Given the description of an element on the screen output the (x, y) to click on. 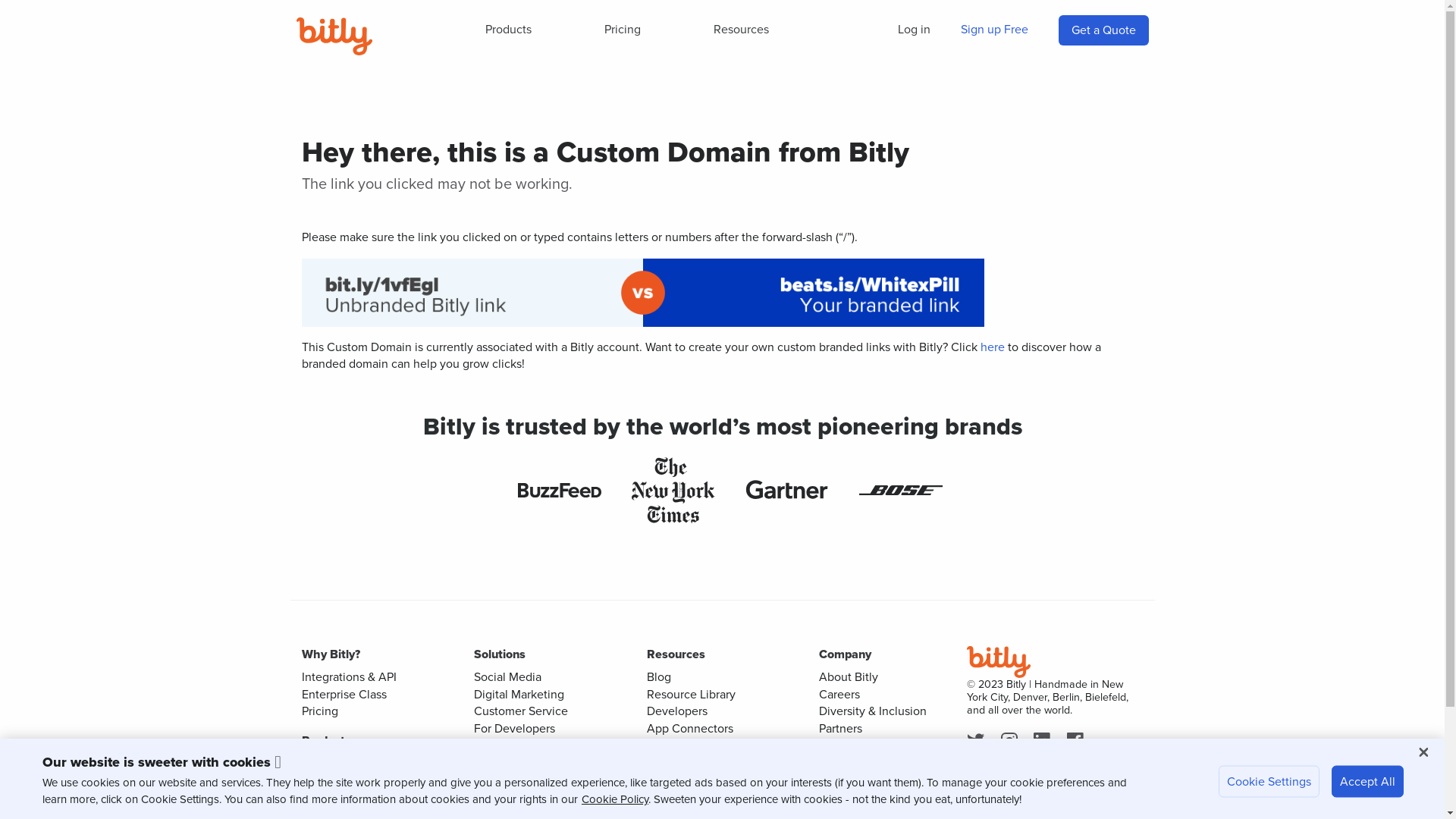
Facebook Element type: text (1077, 742)
linkedin Element type: text (1044, 742)
Trust Center Element type: text (678, 761)
Partners Element type: text (840, 728)
Pricing Element type: text (622, 29)
Resource Library Element type: text (690, 693)
Customer Service Element type: text (520, 710)
Support Element type: text (666, 744)
Diversity & Inclusion Element type: text (872, 710)
Developers Element type: text (676, 710)
Contact Element type: text (839, 761)
Log in Element type: text (913, 29)
twitter Element type: text (977, 742)
here Element type: text (991, 346)
QR Codes Element type: text (328, 779)
Sign up Free Element type: text (993, 29)
Digital Marketing Element type: text (518, 693)
App Connectors Element type: text (689, 728)
Accept All Element type: text (1367, 781)
Get a Quote Element type: text (1102, 29)
Mobile Links Element type: text (506, 797)
Cookie Policy Element type: text (614, 798)
About Bitly Element type: text (848, 676)
Link-in-bio Element type: text (329, 797)
Careers Element type: text (839, 693)
Blog Element type: text (658, 676)
Cookie Settings Element type: text (1268, 781)
Reviews Element type: text (841, 778)
Pricing Element type: text (319, 710)
Resources Element type: text (741, 29)
For Developers Element type: text (514, 728)
Browser Extension Element type: text (695, 778)
Integrations & API Element type: text (348, 676)
Products Element type: text (508, 29)
Link Management Element type: text (348, 762)
Branded Links Element type: text (511, 779)
Press Element type: text (833, 744)
Social Media Element type: text (507, 676)
Enterprise Class Element type: text (343, 693)
Mobile App Element type: text (676, 795)
